Given the description of an element on the screen output the (x, y) to click on. 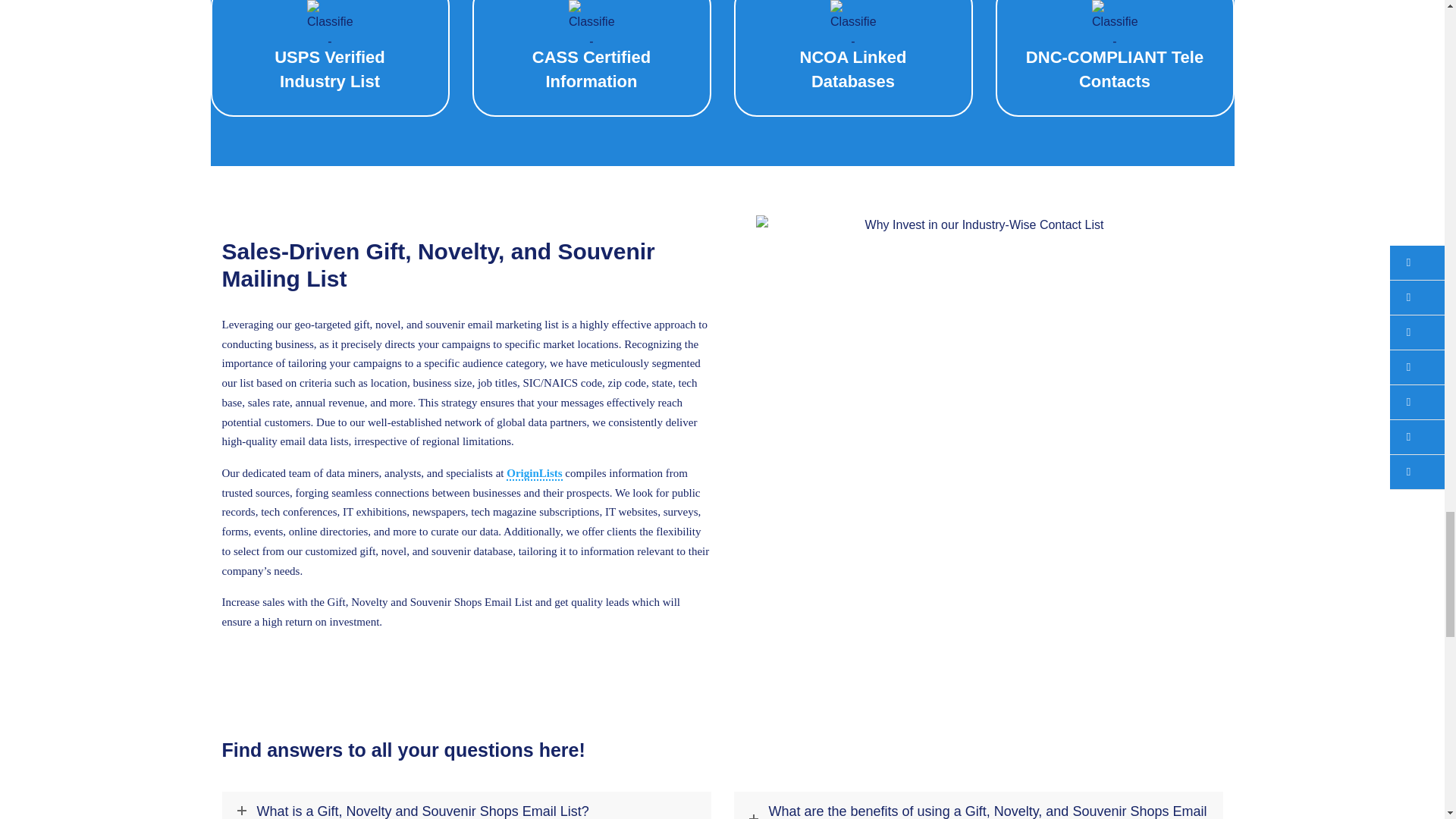
Classified - OriginLists - White (1114, 22)
Classified - OriginLists - White (852, 22)
Classified - OriginLists - White (591, 22)
Classified - OriginLists - White (329, 22)
